Given the description of an element on the screen output the (x, y) to click on. 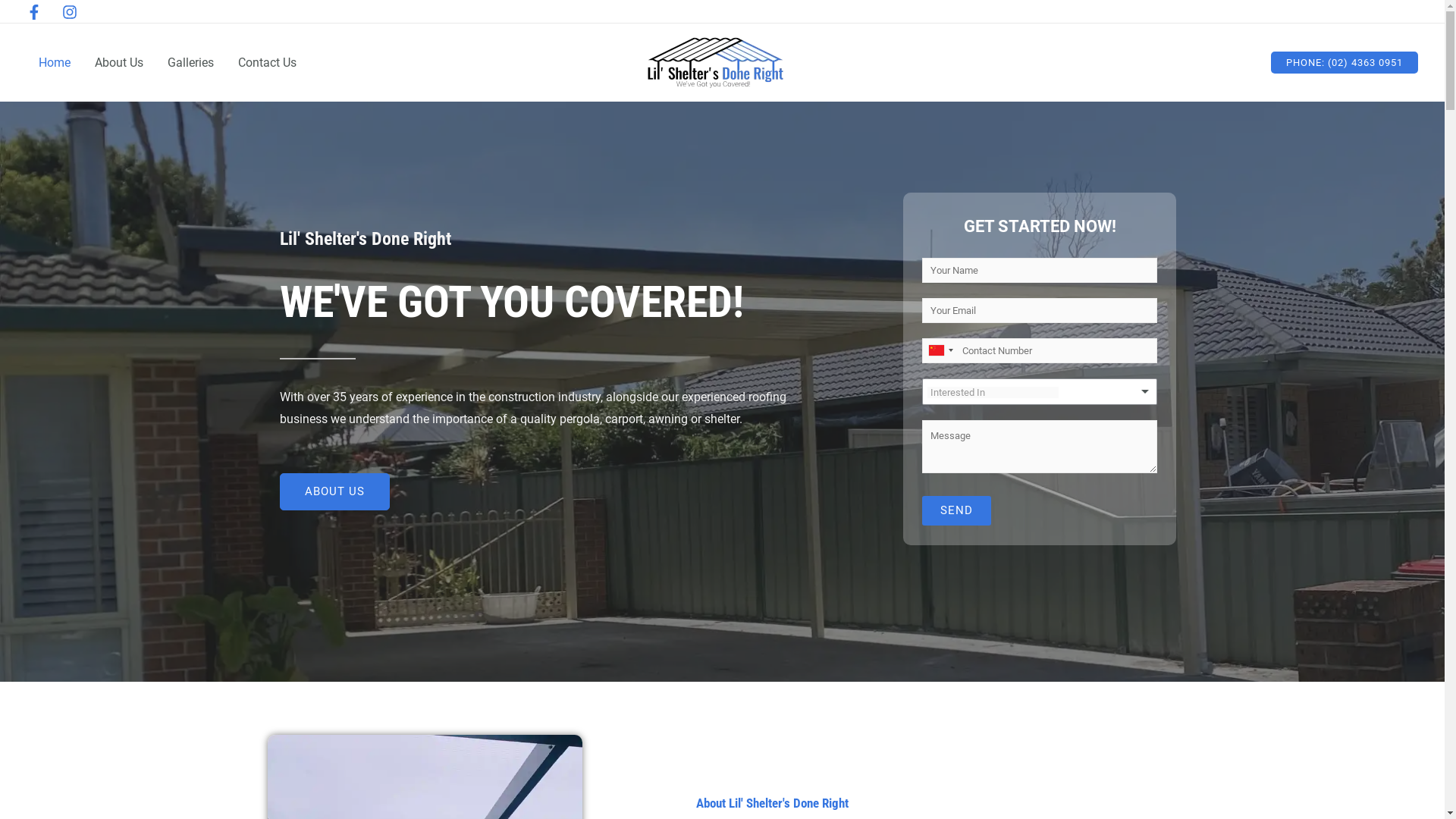
SEND Element type: text (956, 510)
Galleries Element type: text (190, 62)
PHONE: (02) 4363 0951 Element type: text (1344, 62)
About Us Element type: text (118, 62)
Home Element type: text (54, 62)
ABOUT US Element type: text (334, 491)
Contact Us Element type: text (266, 62)
